Given the description of an element on the screen output the (x, y) to click on. 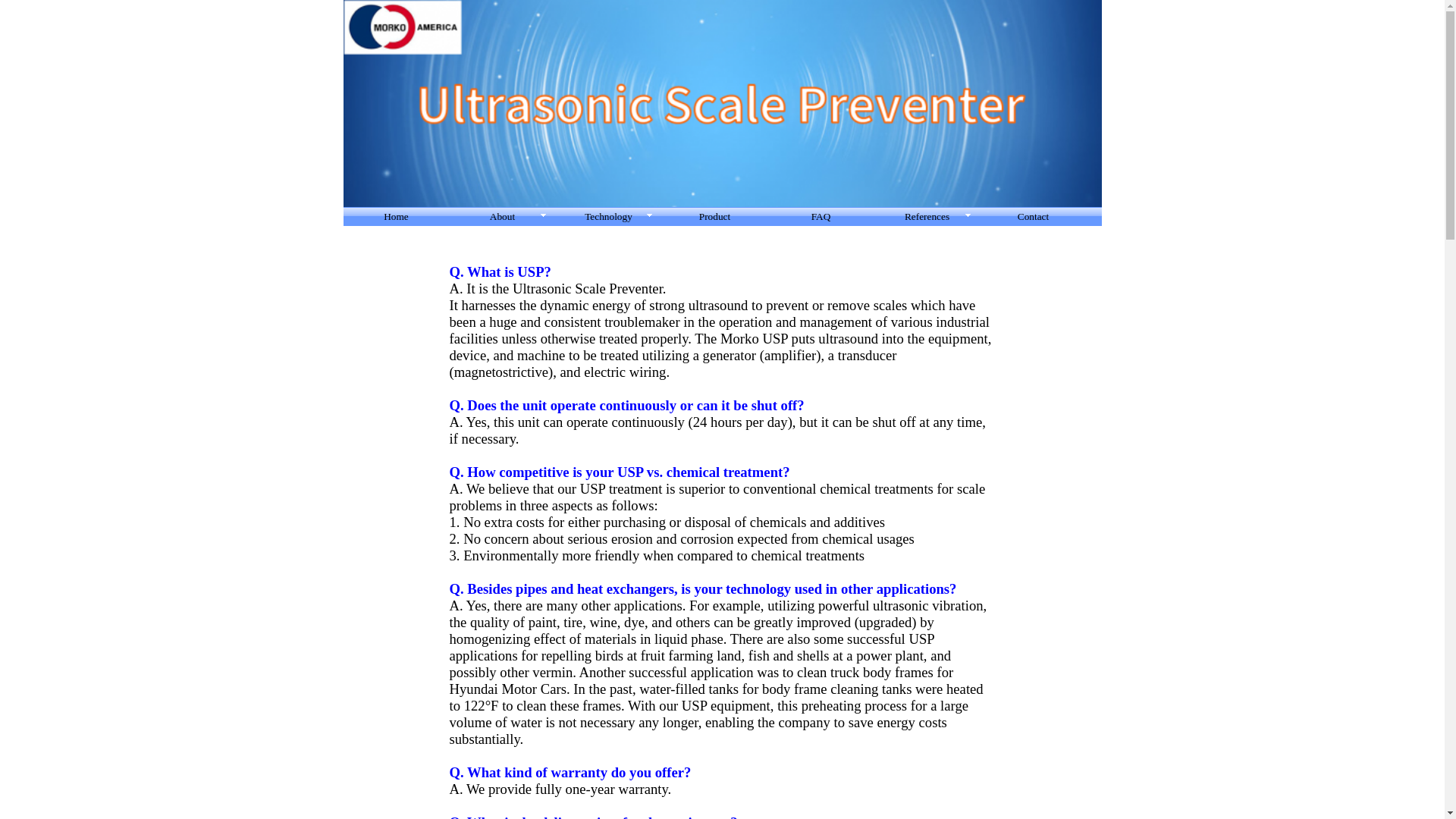
Product (714, 218)
Contact (1032, 218)
About (501, 218)
Technology (607, 218)
Home (395, 218)
References (926, 218)
FAQ (820, 218)
